Given the description of an element on the screen output the (x, y) to click on. 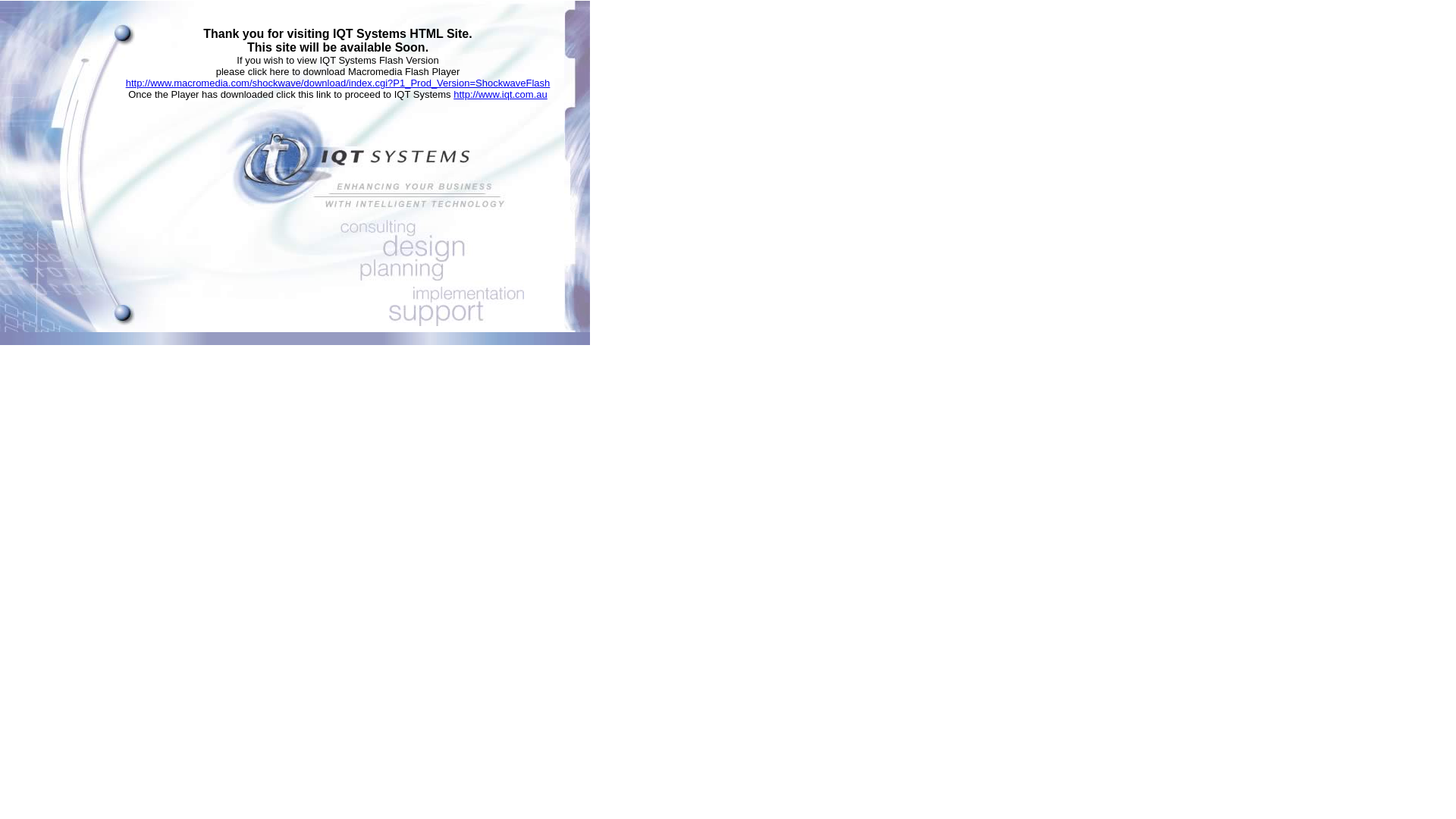
http://www.iqt.com.au Element type: text (500, 94)
